Given the description of an element on the screen output the (x, y) to click on. 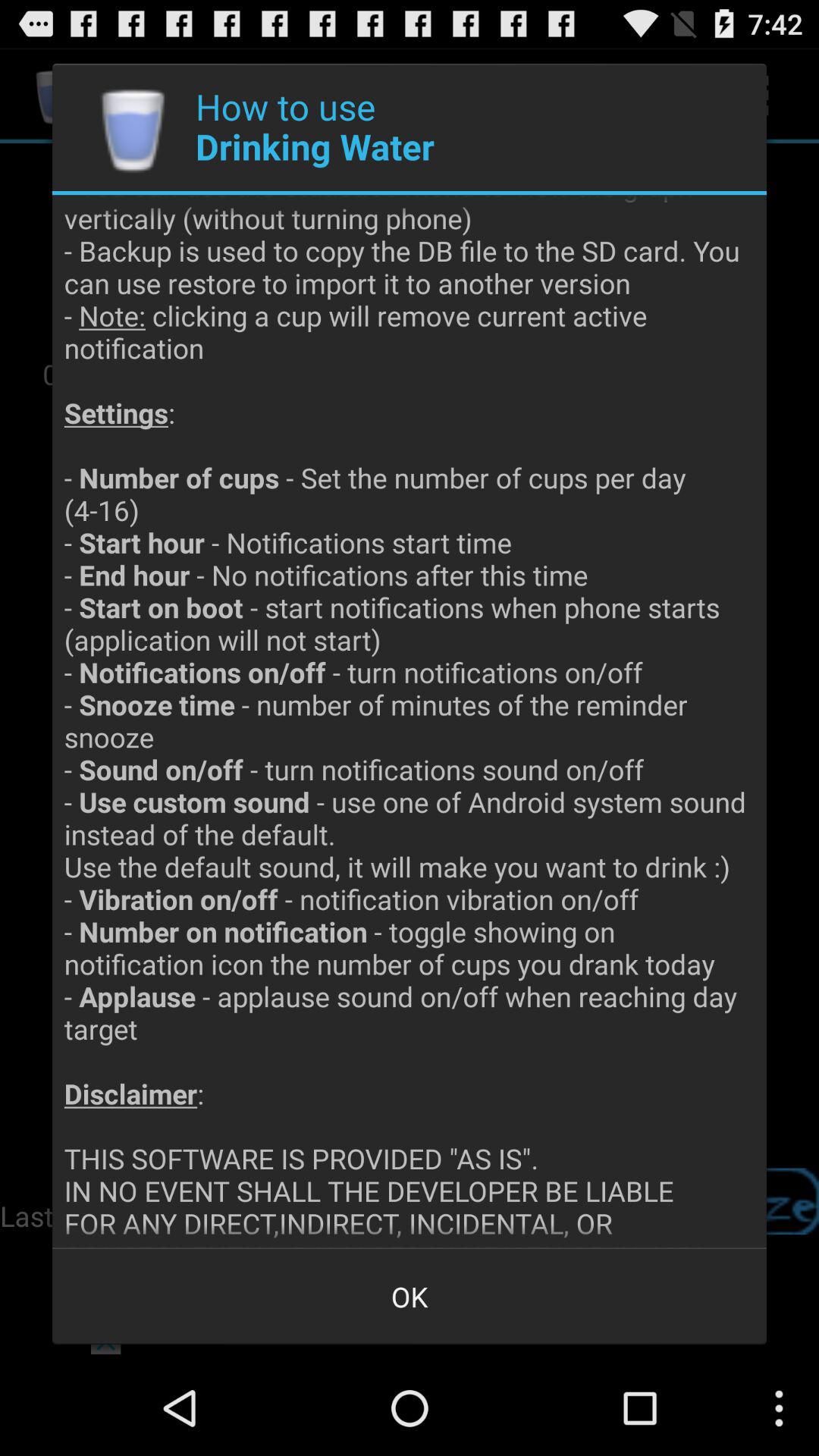
swipe to ok (409, 1296)
